Given the description of an element on the screen output the (x, y) to click on. 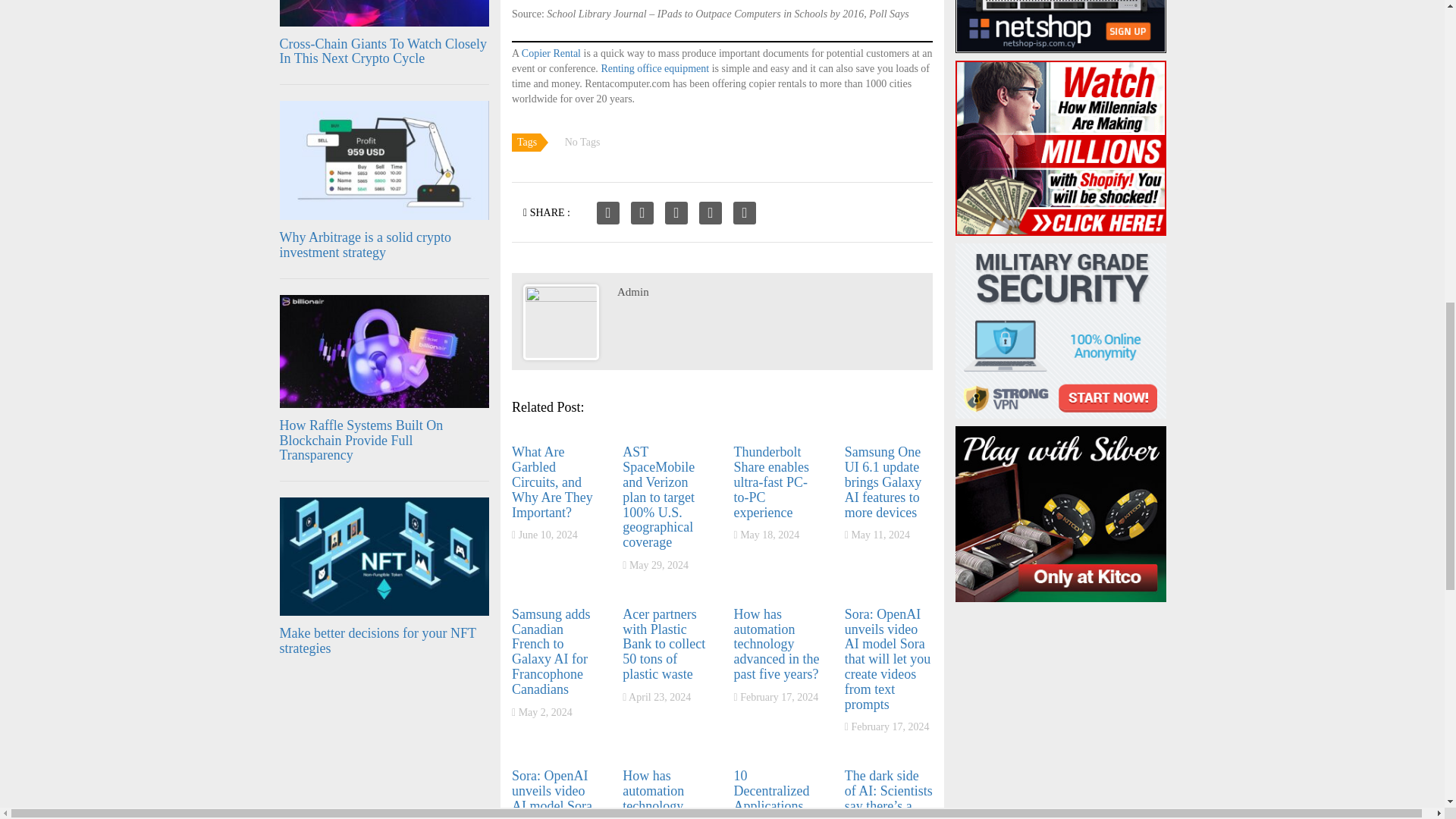
Posts by Admin (633, 291)
Share on Facebook (608, 212)
Make better decisions for your NFT strategies (377, 640)
Why Arbitrage is a solid crypto investment strategy (364, 245)
